Given the description of an element on the screen output the (x, y) to click on. 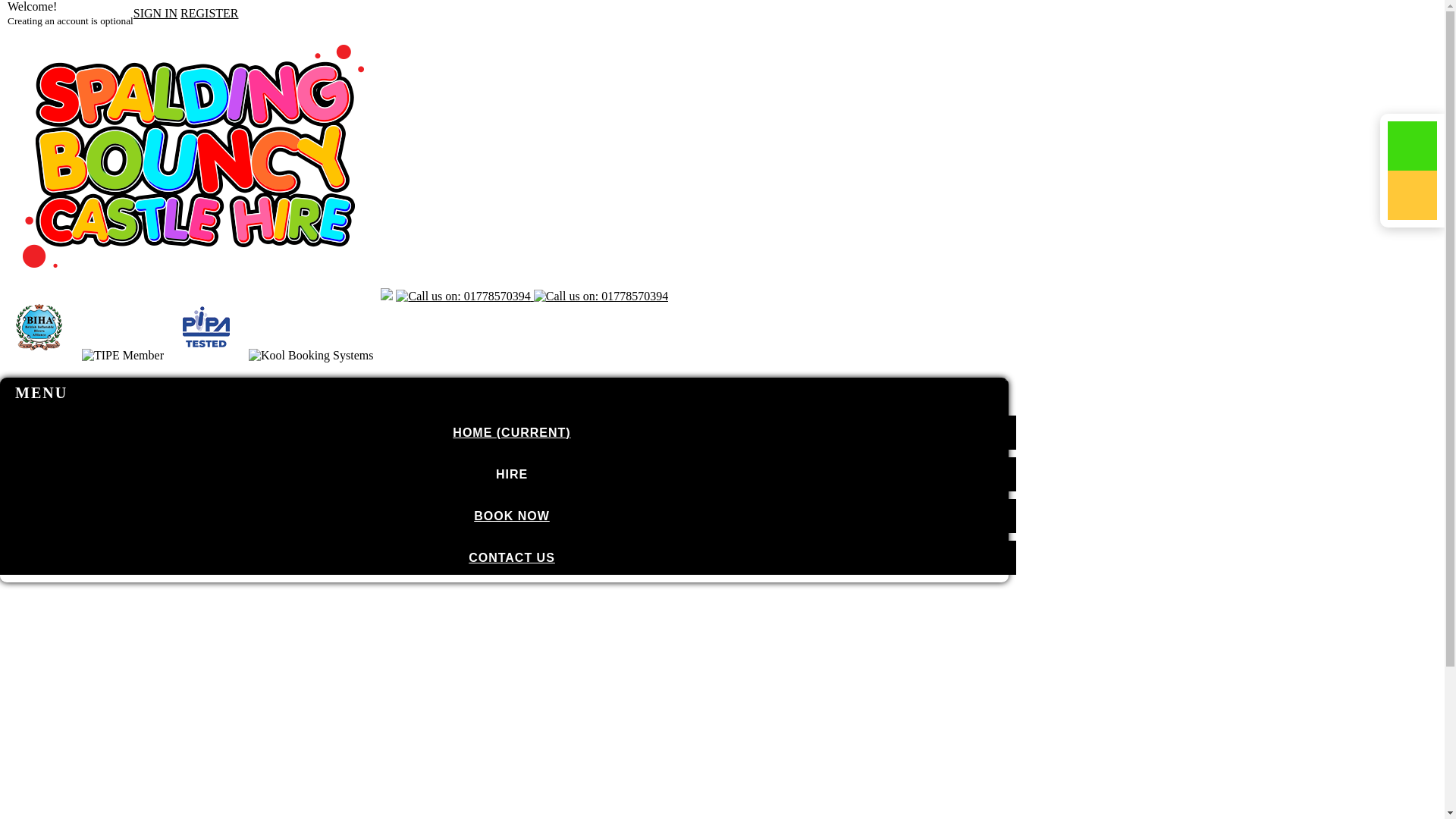
TIPE Member (122, 355)
CONTACT US (508, 557)
REGISTER (209, 12)
SIGN IN (155, 12)
Call us today! (462, 296)
Call us today! (601, 296)
BIHA Member (39, 327)
PIPA Tested (206, 327)
HIRE (508, 474)
Spalding Bouncy Castle Hire (192, 280)
BOOK NOW (508, 515)
